Given the description of an element on the screen output the (x, y) to click on. 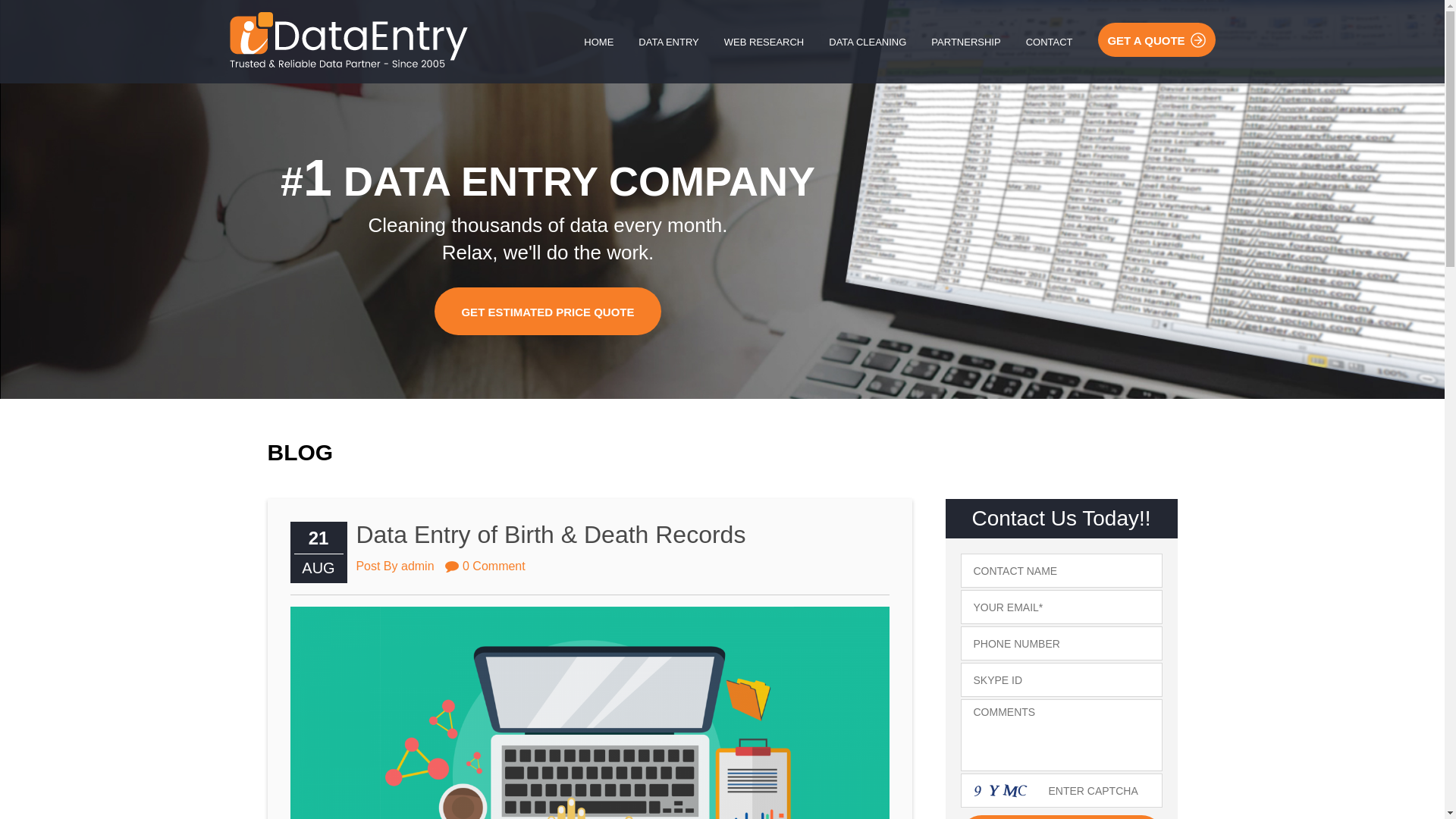
Datacleaningservices (347, 39)
DATA ENTRY (668, 41)
Contact us today (1060, 816)
PARTNERSHIP (965, 41)
GET ESTIMATED PRICE QUOTE (547, 310)
GET A QUOTE (1156, 39)
0 Comment (485, 564)
DATA CLEANING (867, 41)
WEB RESEARCH (763, 41)
Contact us today (1060, 816)
